Given the description of an element on the screen output the (x, y) to click on. 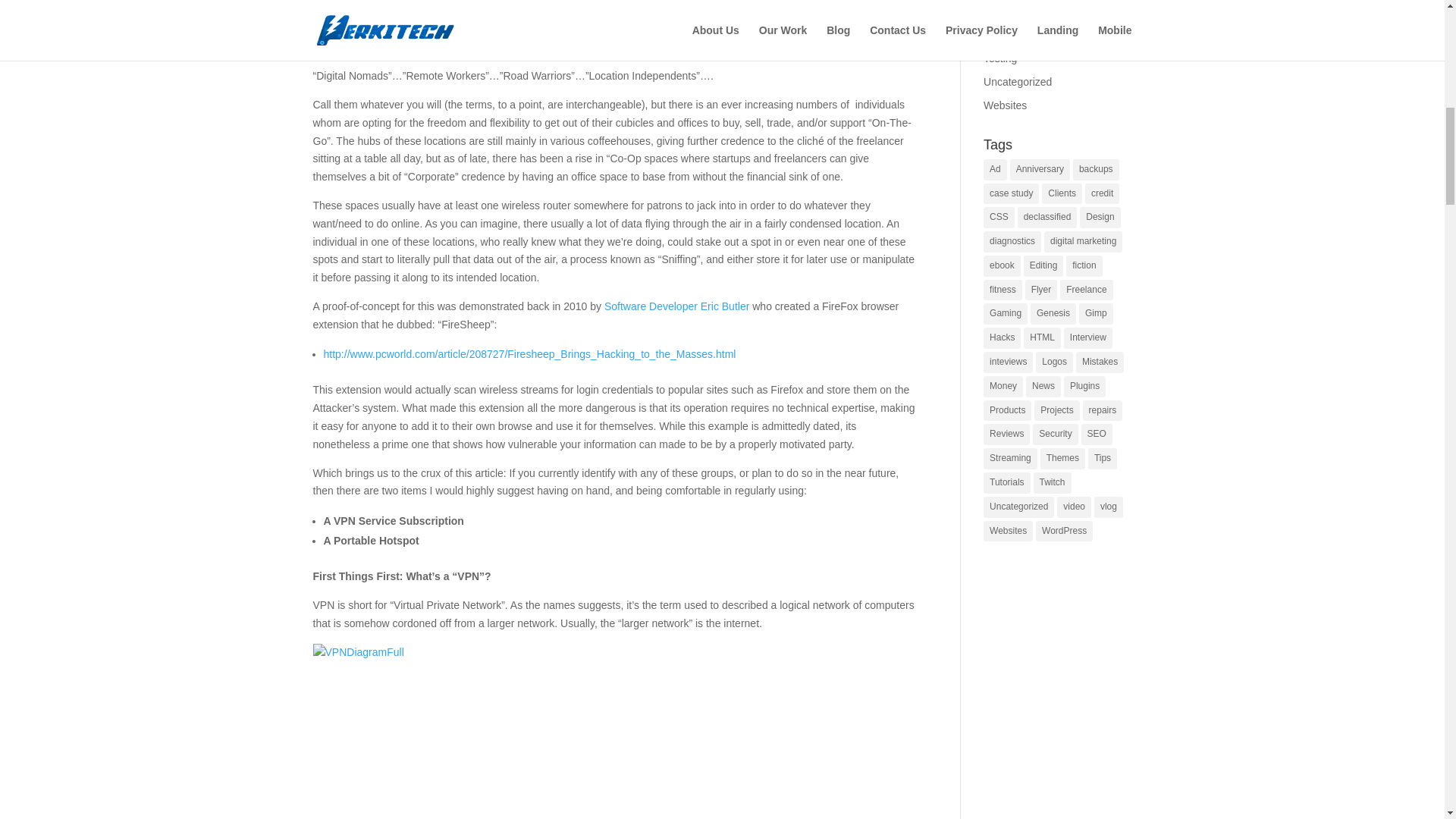
Software Developer Eric Butler (676, 306)
